Given the description of an element on the screen output the (x, y) to click on. 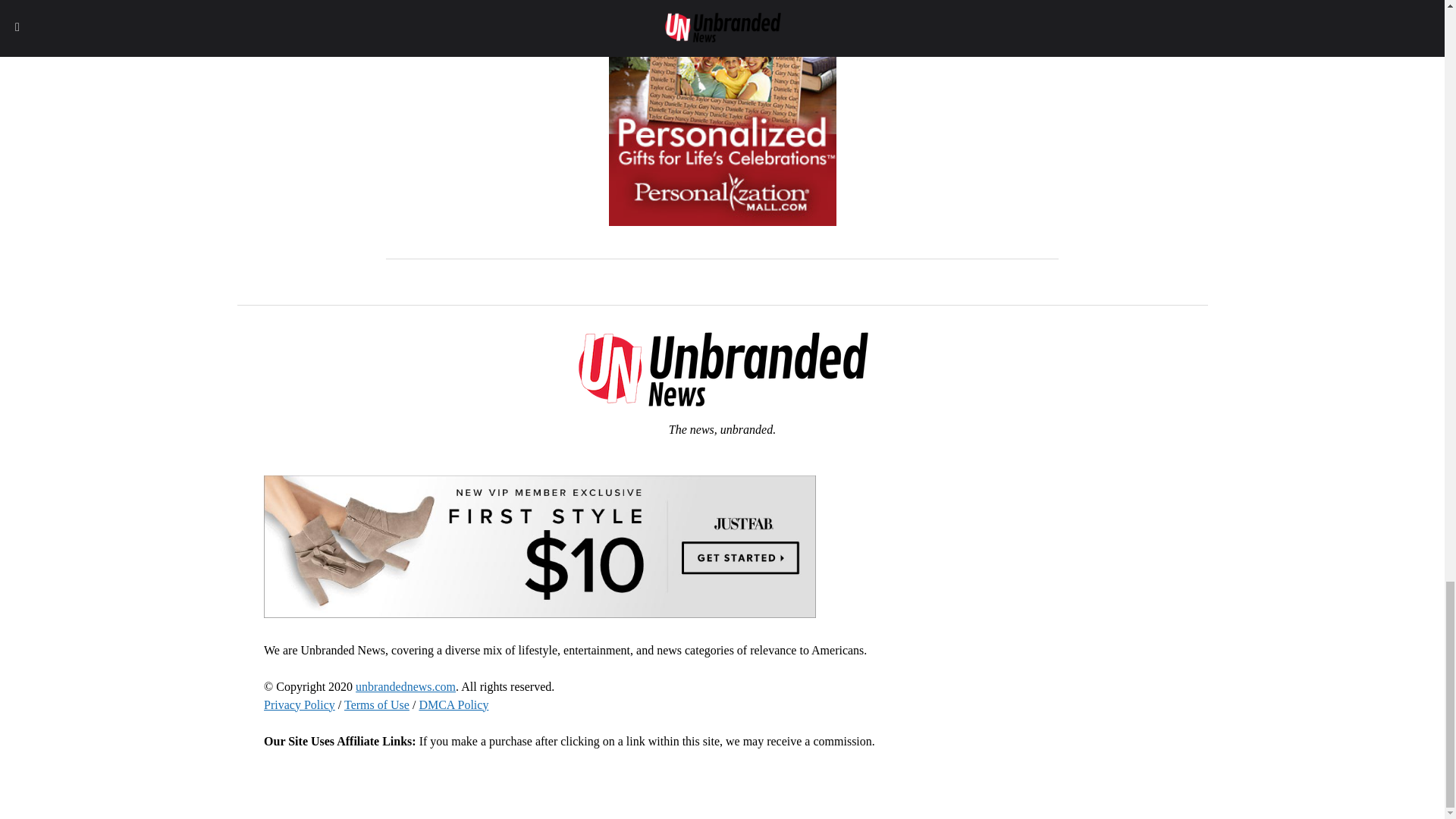
Terms of Use (376, 704)
Privacy Policy (298, 704)
unbrandednews.com (405, 686)
DMCA Policy (453, 704)
